Given the description of an element on the screen output the (x, y) to click on. 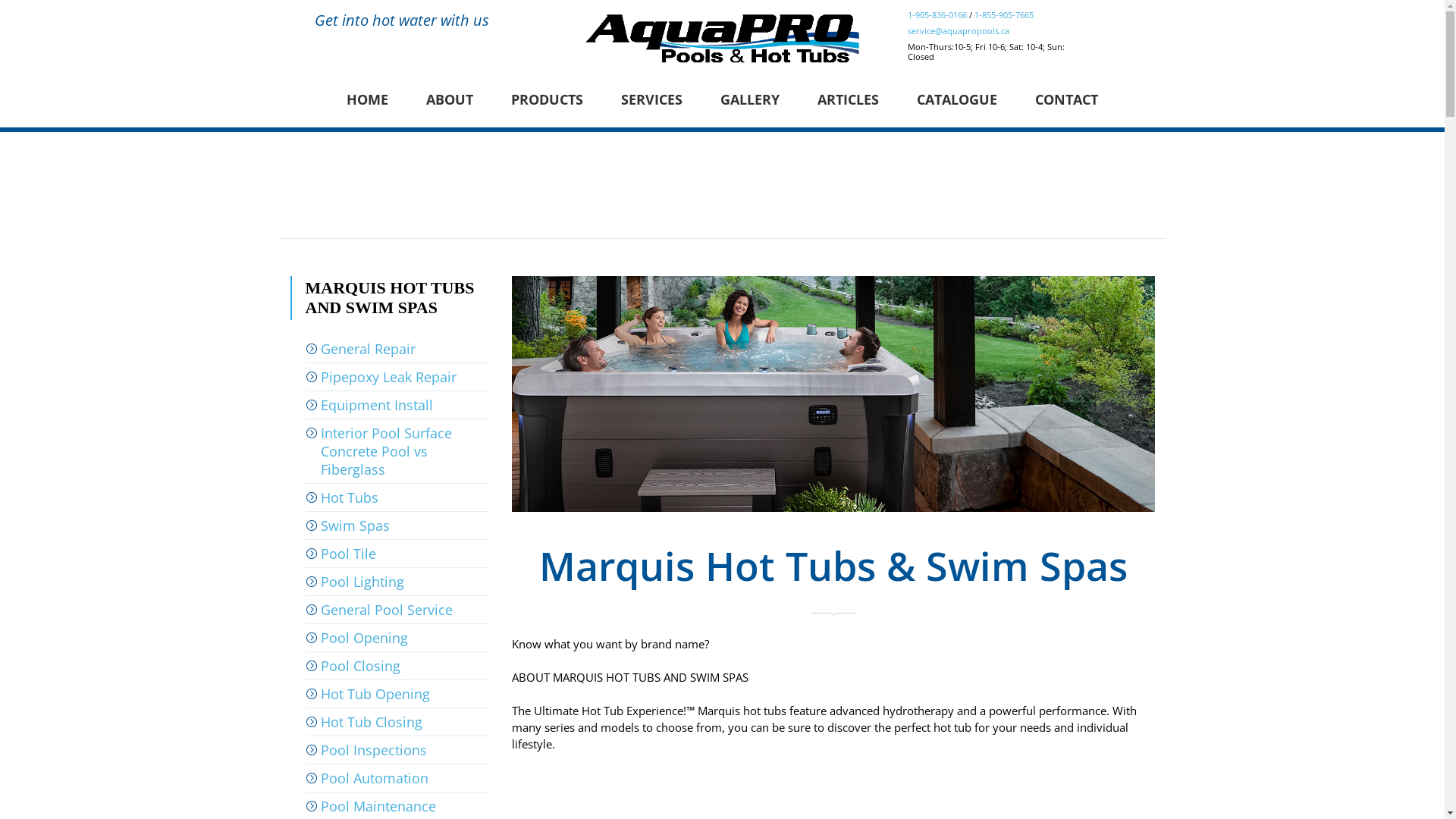
Hot Tubs Element type: text (396, 497)
Pool Opening Element type: text (396, 637)
SERVICES Element type: text (651, 99)
Pool Tile Element type: text (396, 553)
GALLERY Element type: text (749, 99)
General Repair Element type: text (396, 348)
Swim Spas Element type: text (396, 525)
Pool Automation Element type: text (396, 777)
service@aquapropools.ca Element type: text (957, 30)
Interior Pool Surface Concrete Pool vs Fiberglass Element type: text (396, 451)
PRODUCTS Element type: text (547, 99)
Equipment Install Element type: text (396, 404)
1-905-836-0166 Element type: text (936, 14)
Hot Tub Opening Element type: text (396, 693)
1-855-905-7665 Element type: text (1002, 14)
Pool Lighting Element type: text (396, 581)
Pool Closing Element type: text (396, 665)
CATALOGUE Element type: text (956, 99)
HOME Element type: text (367, 99)
Pool Inspections Element type: text (396, 749)
ARTICLES Element type: text (847, 99)
CONTACT Element type: text (1066, 99)
Hot Tub Closing Element type: text (396, 721)
General Pool Service Element type: text (396, 609)
ABOUT Element type: text (449, 99)
Pipepoxy Leak Repair Element type: text (396, 376)
